Given the description of an element on the screen output the (x, y) to click on. 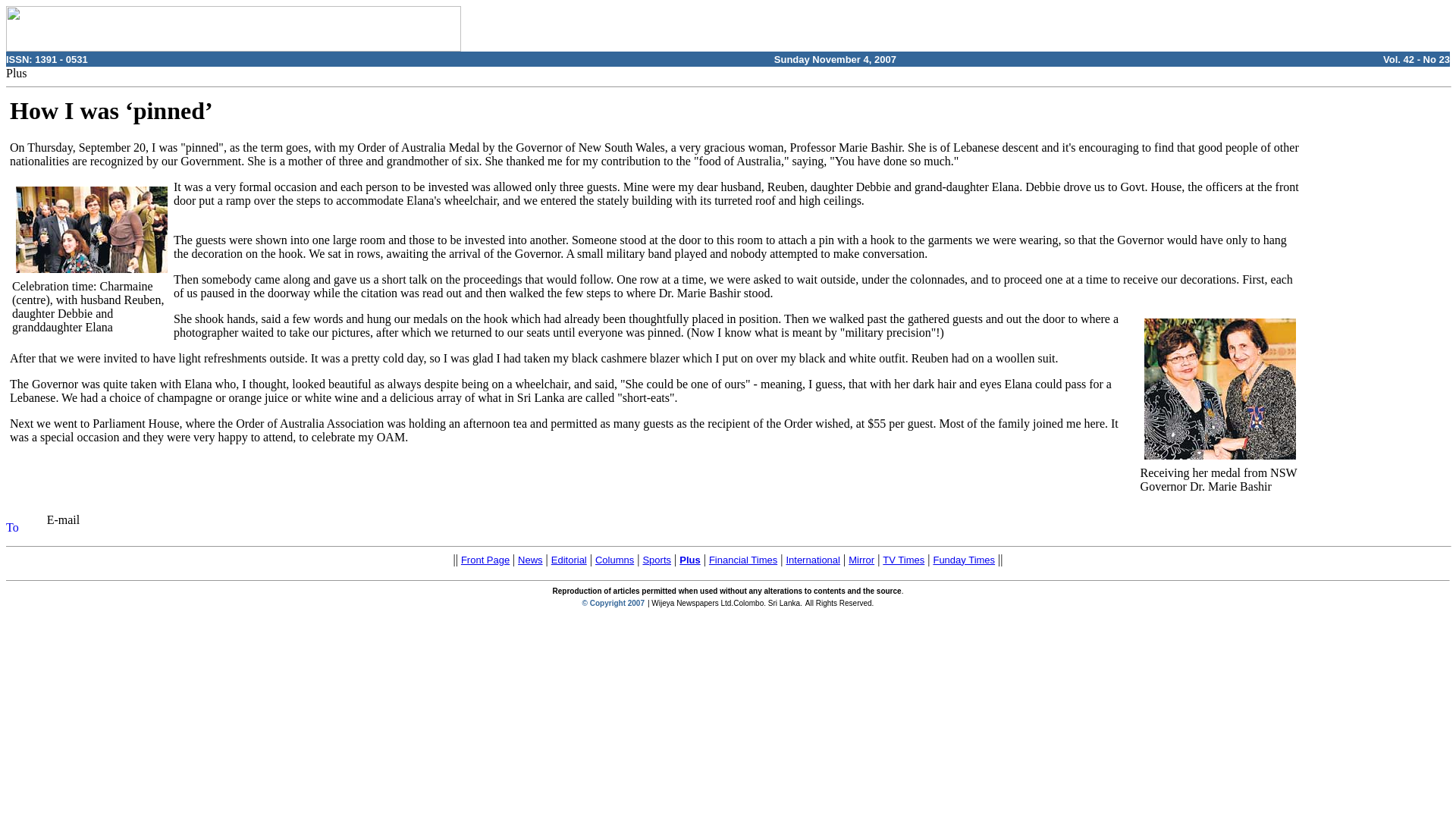
TV Times (903, 559)
Funday Times (963, 559)
Financial Times (743, 559)
Columns (614, 559)
Plus (689, 559)
Sports (656, 559)
Front Page (485, 559)
Editorial (568, 559)
International (813, 559)
Mirror (861, 559)
